Given the description of an element on the screen output the (x, y) to click on. 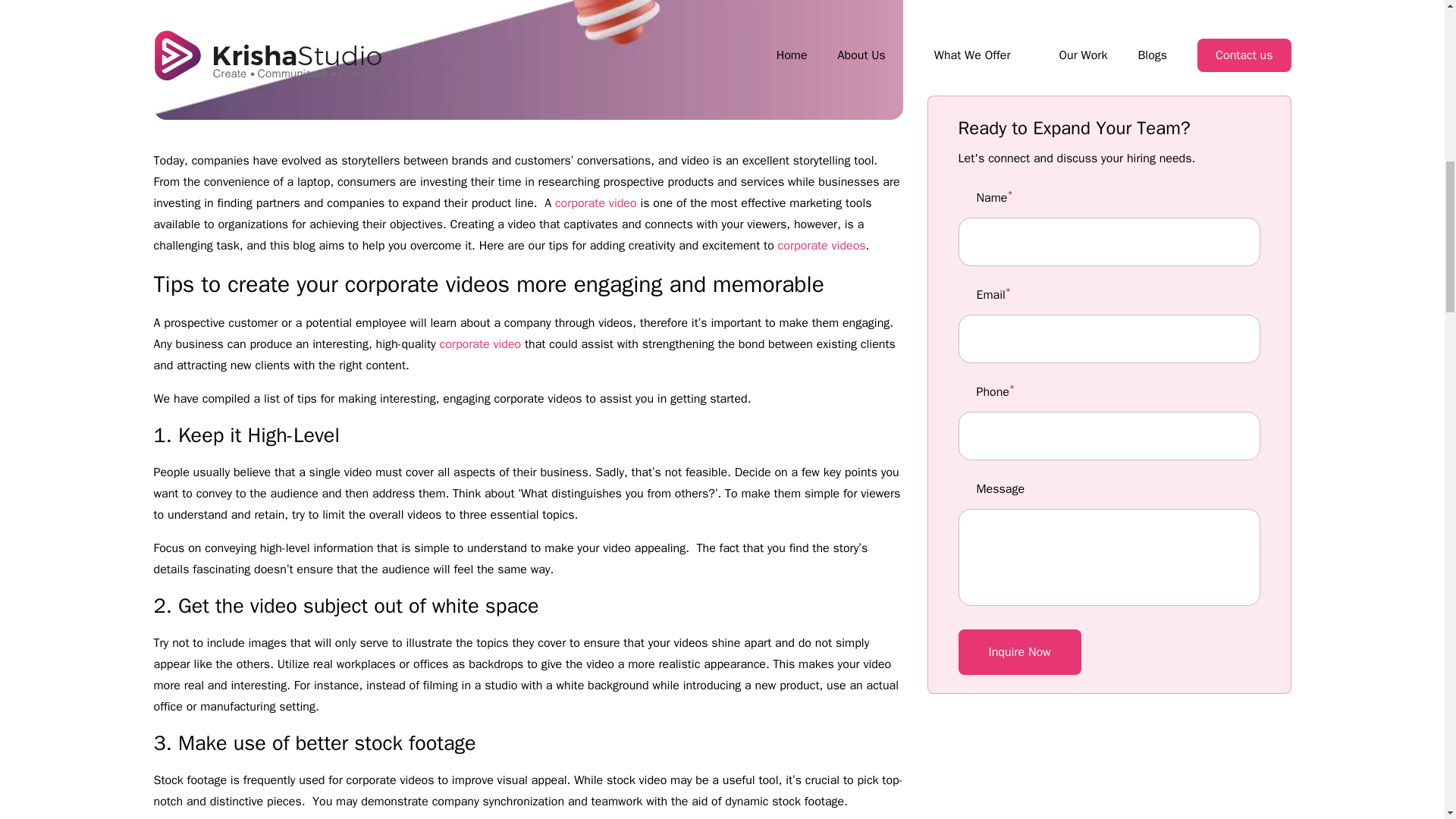
Inquire Now (1019, 251)
corporate videos (821, 245)
corporate video (595, 202)
corporate video (480, 344)
